Given the description of an element on the screen output the (x, y) to click on. 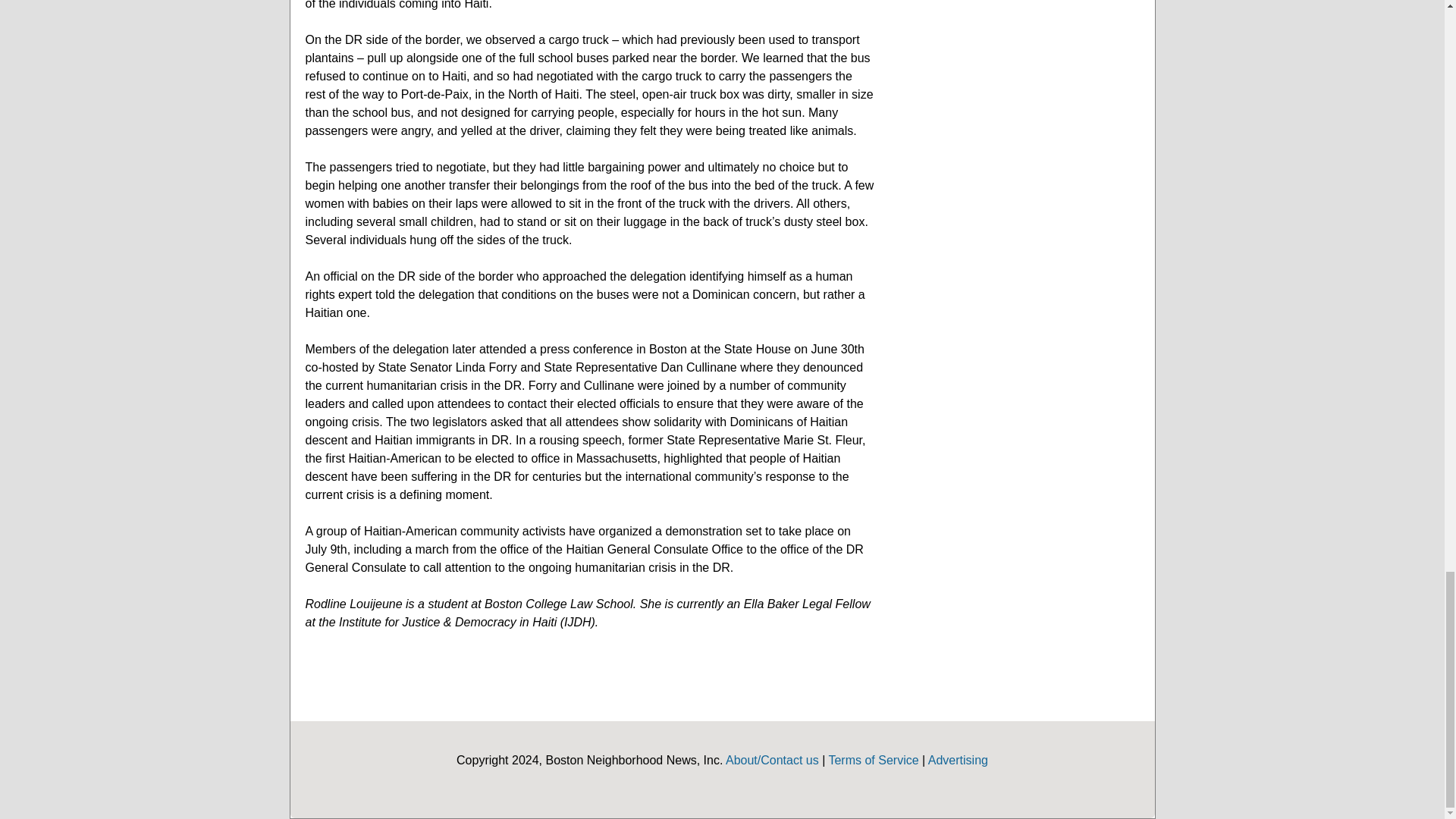
Advertising (958, 759)
Terms of Service (873, 759)
